Given the description of an element on the screen output the (x, y) to click on. 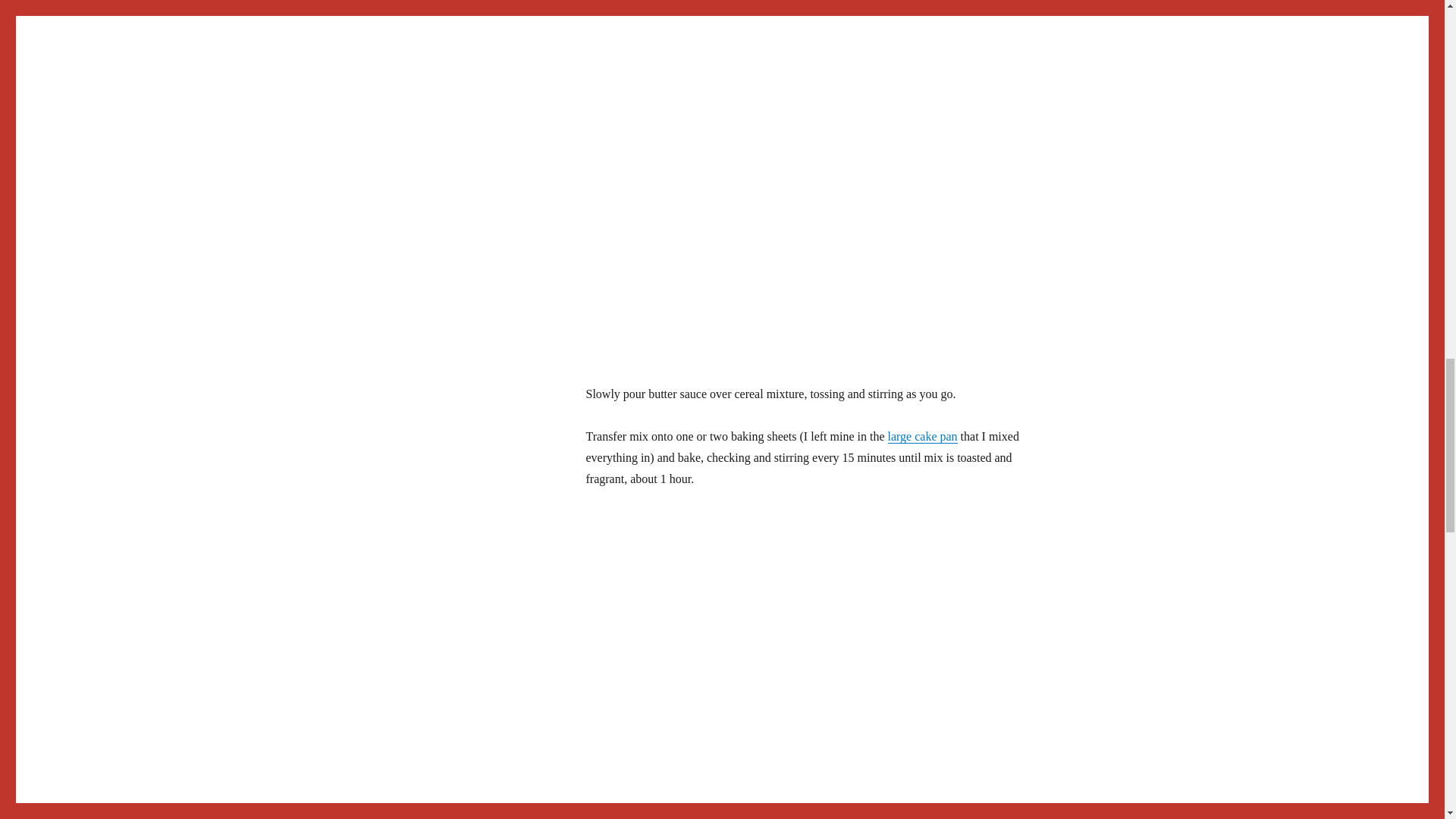
large cake pan (921, 436)
